Given the description of an element on the screen output the (x, y) to click on. 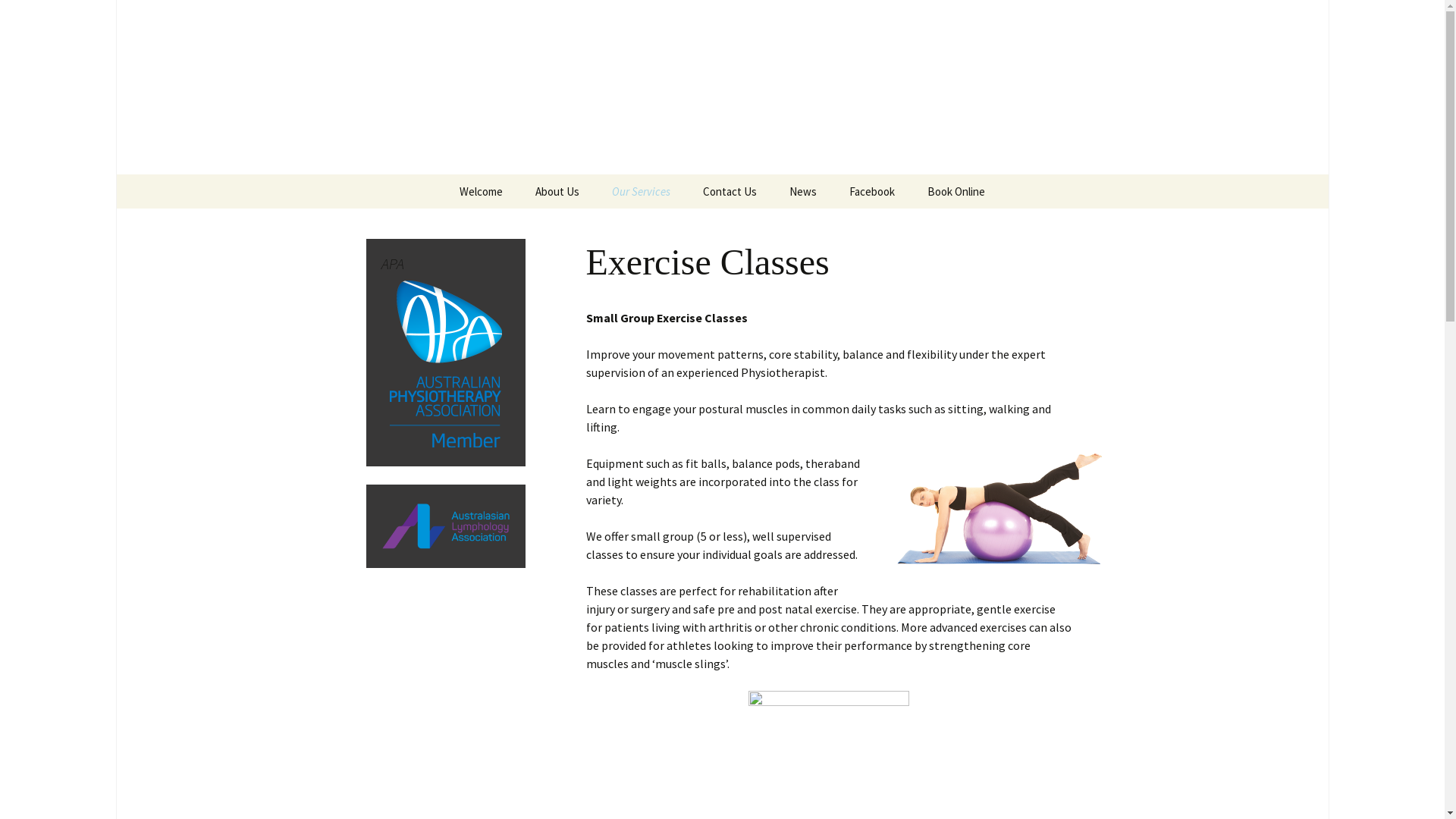
About Us Element type: text (557, 191)
Move Well Physiotherapy and Exercise Element type: text (721, 87)
Book Online Element type: text (956, 191)
Facebook Element type: text (872, 191)
Skip to content Element type: text (312, 173)
Welcome Element type: text (480, 191)
Our Services Element type: text (640, 191)
Contact Us Element type: text (729, 191)
News Element type: text (802, 191)
